Given the description of an element on the screen output the (x, y) to click on. 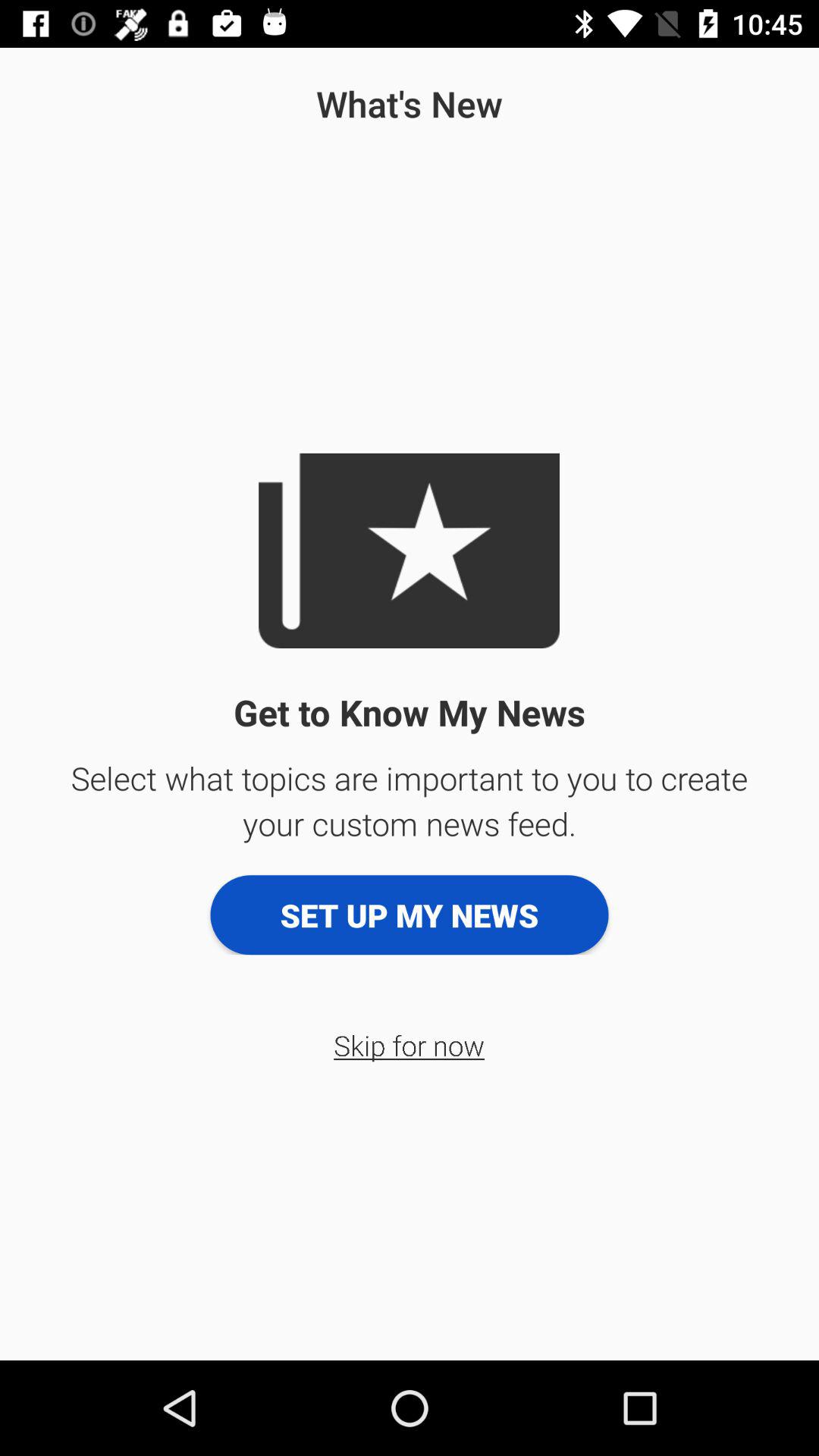
scroll until set up my (409, 914)
